Given the description of an element on the screen output the (x, y) to click on. 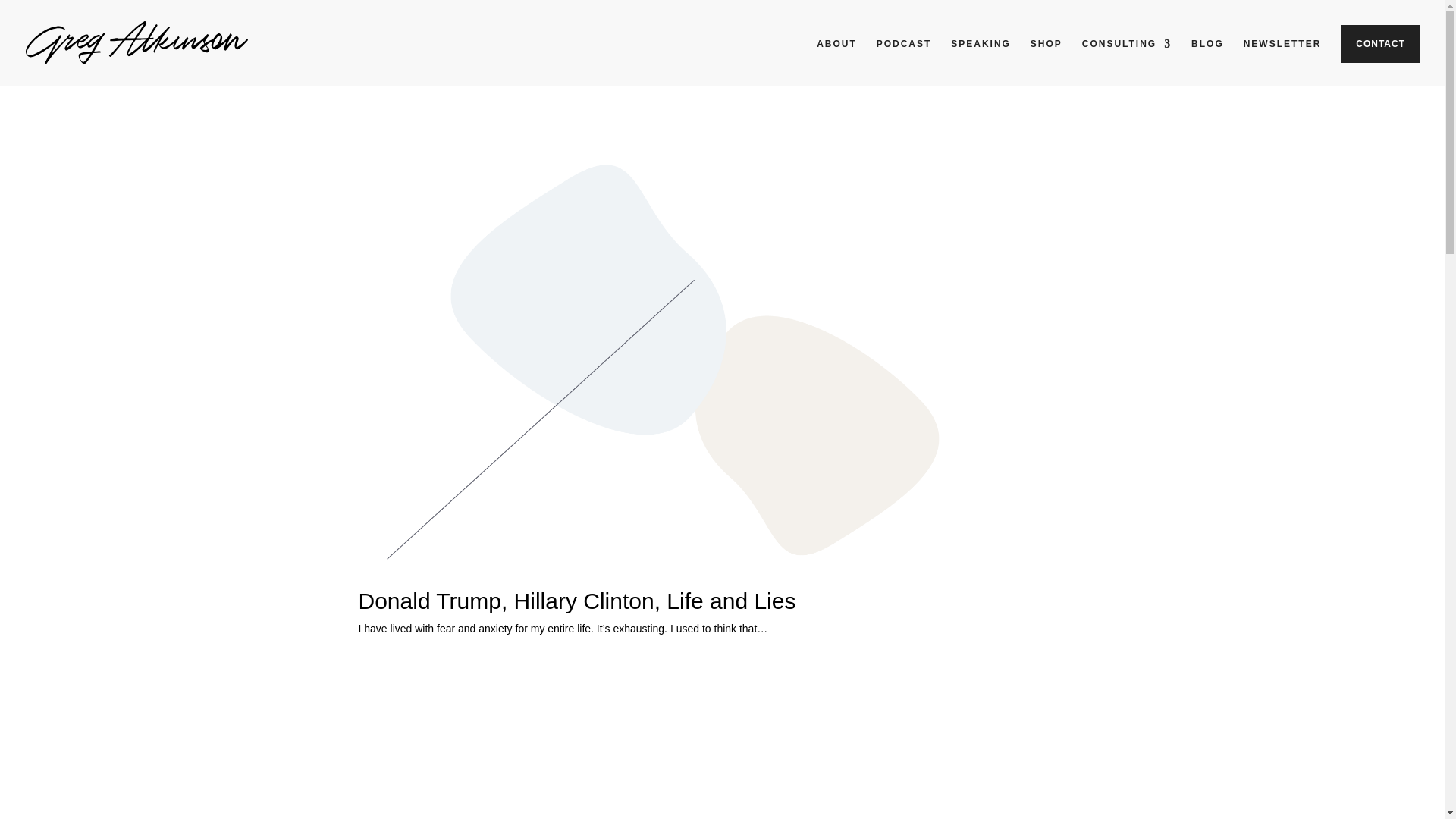
PODCAST (903, 56)
SPEAKING (980, 56)
BLOG (1207, 56)
CONTACT (1380, 44)
ABOUT (836, 56)
NEWSLETTER (1282, 56)
SHOP (1046, 56)
CONSULTING (1126, 56)
